Given the description of an element on the screen output the (x, y) to click on. 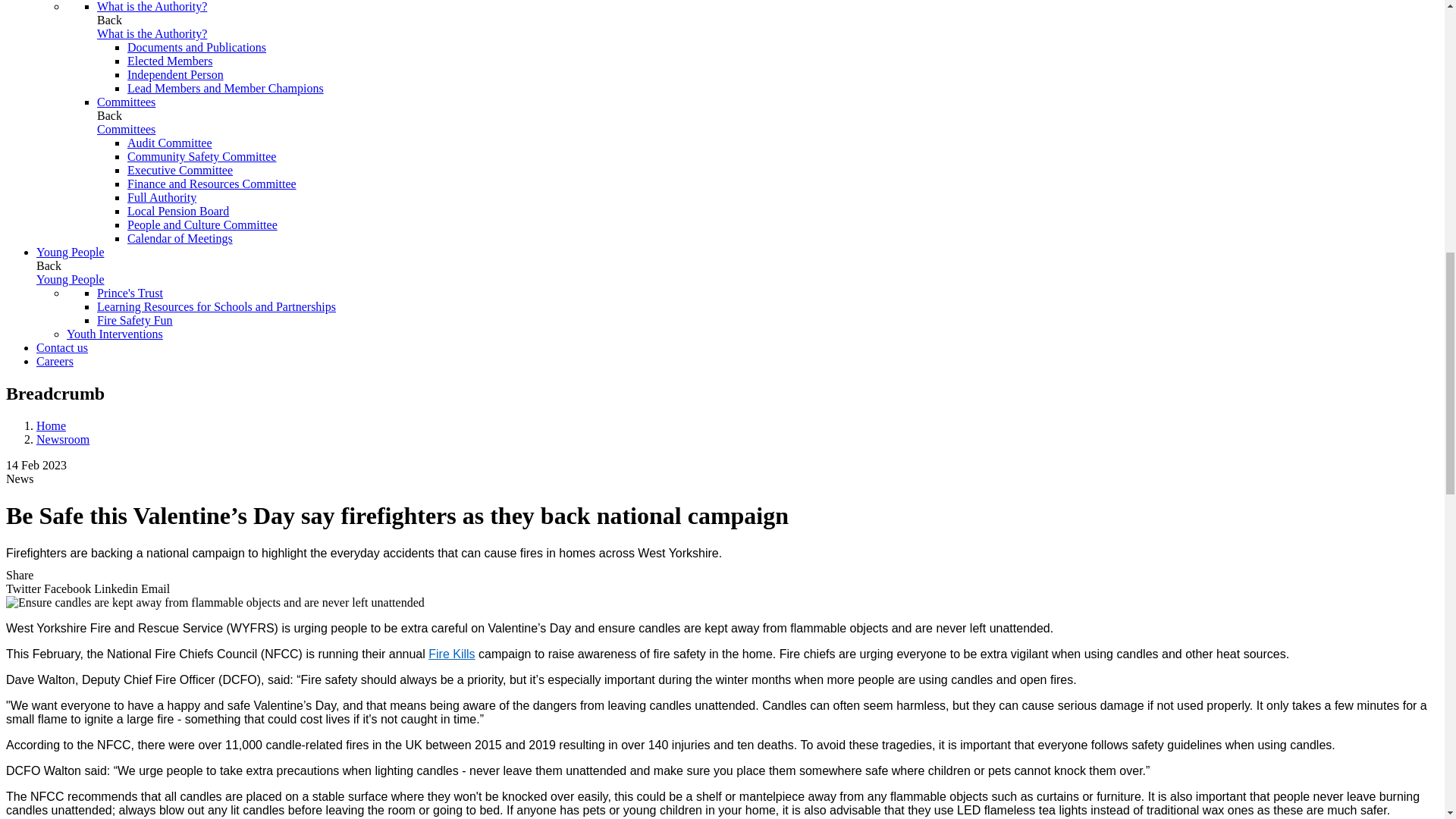
WYFR Twitter profile (24, 588)
WYFR Facebook profile (68, 588)
WYFR Email (155, 588)
WYFR LinkedIn profile (117, 588)
